Given the description of an element on the screen output the (x, y) to click on. 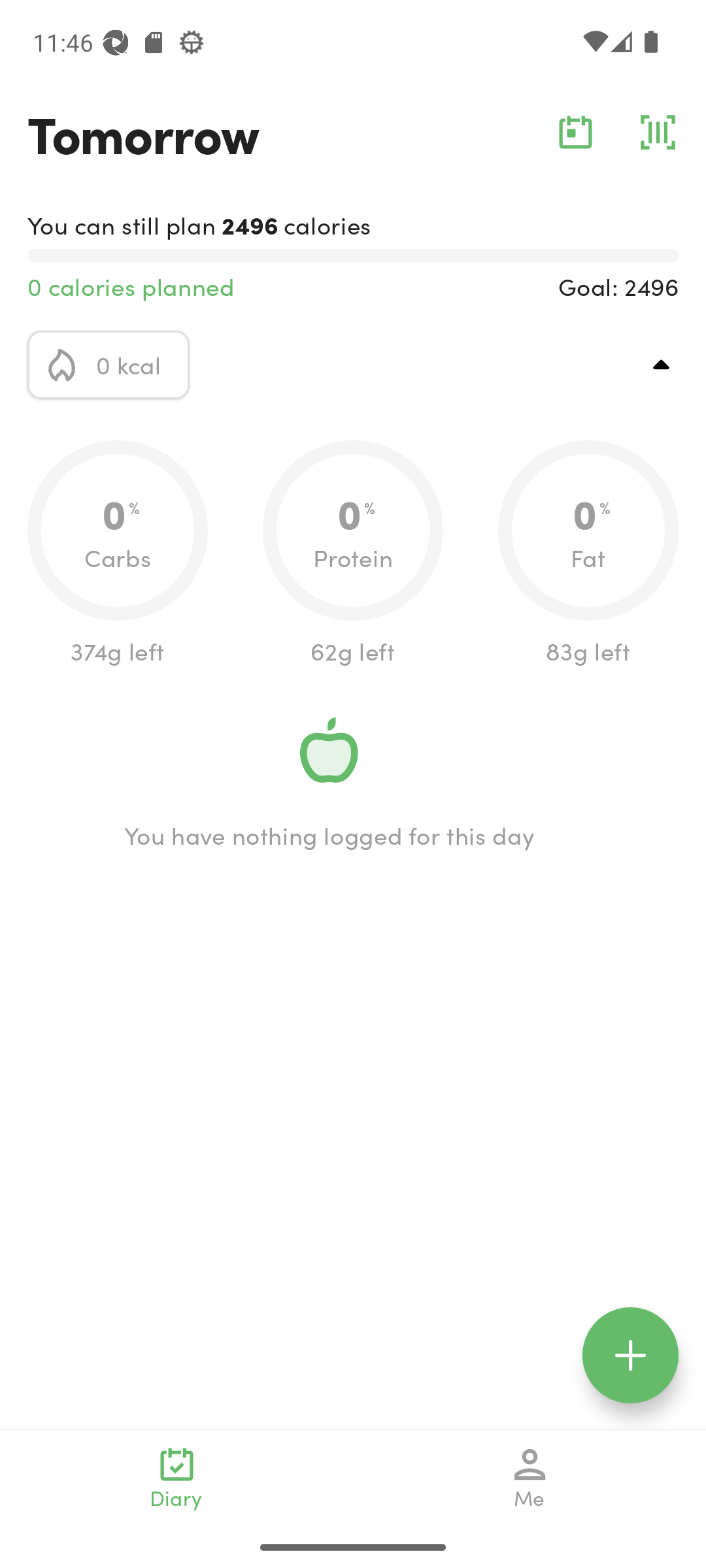
calendar_action (575, 132)
barcode_action (658, 132)
calorie_icon 0 kcal (108, 365)
top_right_action (661, 365)
0.0 0 % Carbs 374g left (117, 553)
0.0 0 % Protein 62g left (352, 553)
0.0 0 % Fat 83g left (588, 553)
floating_action_icon (630, 1355)
Me navigation_icon (529, 1478)
